Given the description of an element on the screen output the (x, y) to click on. 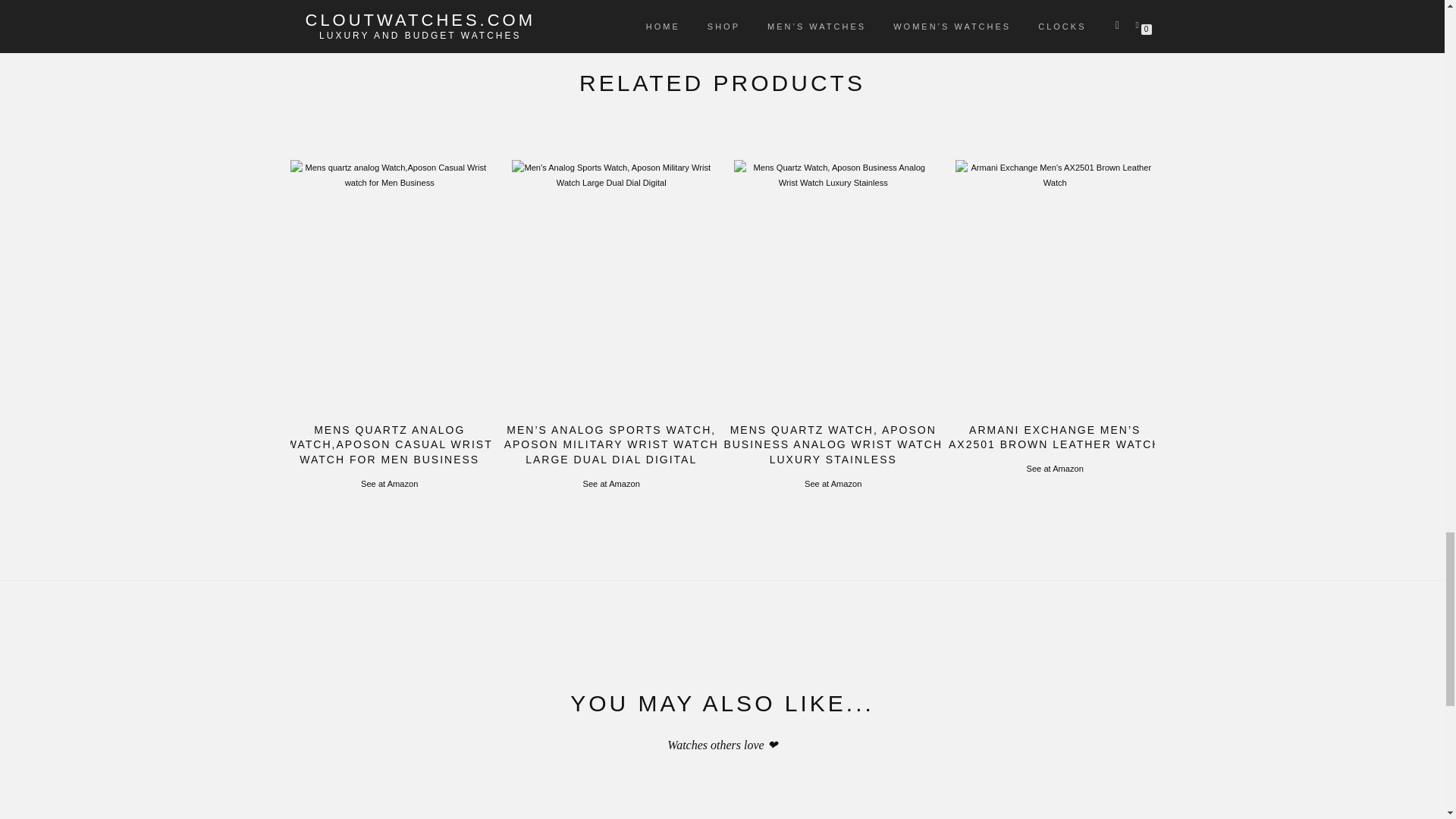
See at Amazon (389, 483)
Armani Exchange Men's AX2501 Brown  Leather Watch (1054, 284)
